Given the description of an element on the screen output the (x, y) to click on. 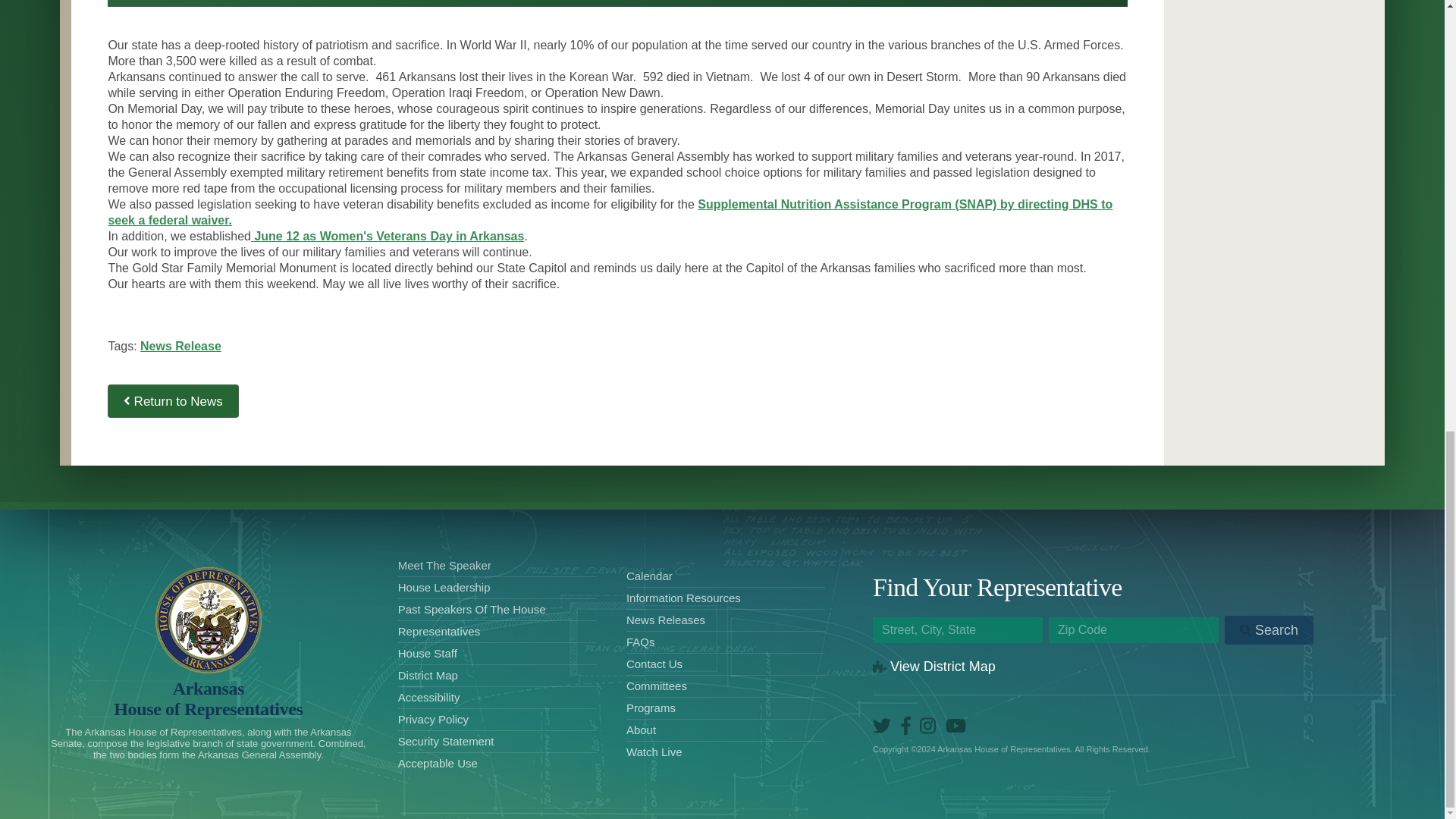
News Release (180, 345)
Back to News (172, 400)
Return to News (172, 400)
View District Map (933, 666)
June 12 as Women's Veterans Day in Arkansas (207, 698)
